Given the description of an element on the screen output the (x, y) to click on. 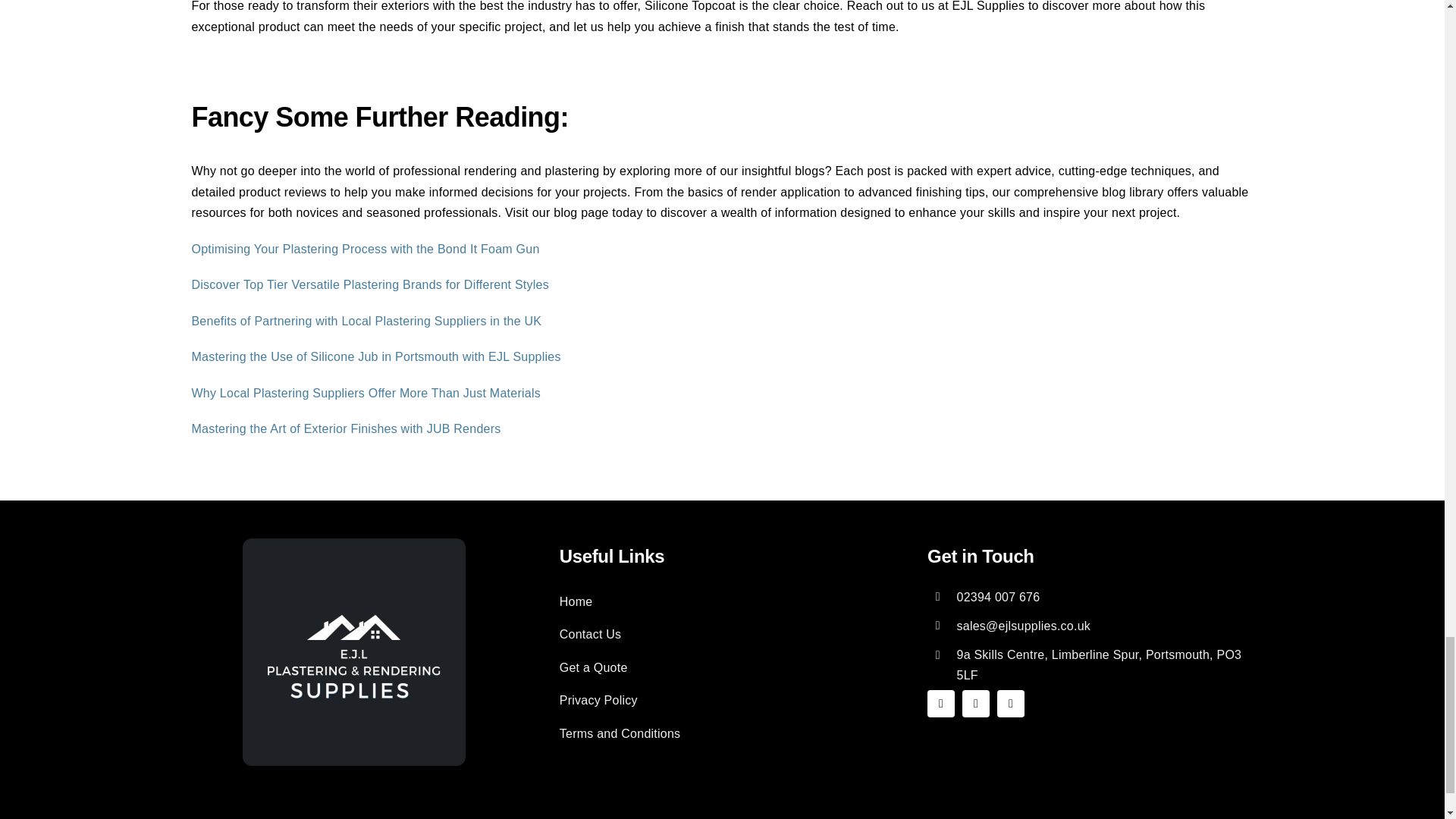
Optimising Your Plastering Process with the Bond It Foam Gun (364, 248)
LinkedIn (1011, 703)
Facebook (941, 703)
Mastering the Art of Exterior Finishes with JUB Renders (345, 428)
Instagram (976, 703)
